Given the description of an element on the screen output the (x, y) to click on. 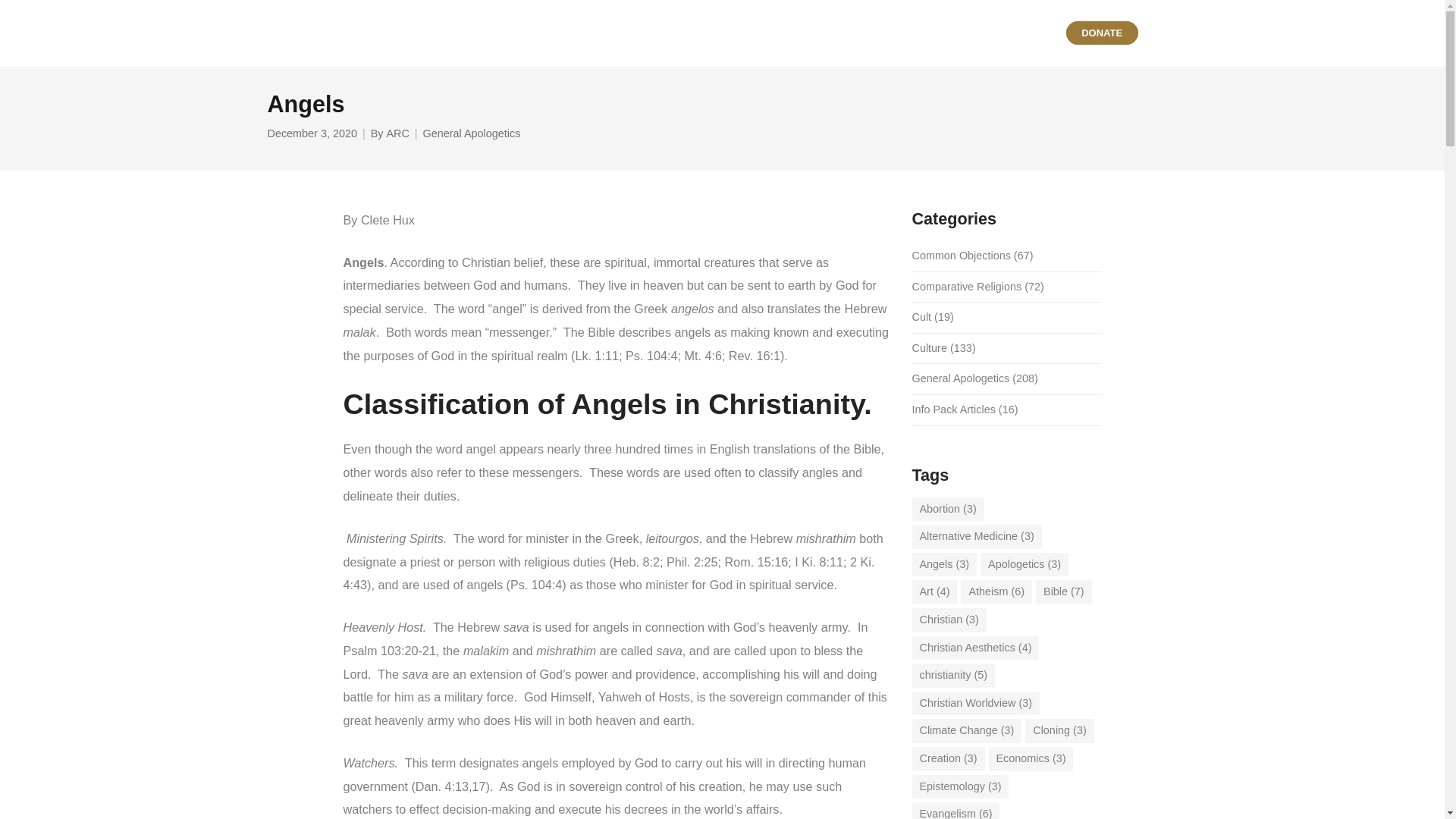
RESOURCES (848, 33)
ARTICLES (773, 33)
General Apologetics (472, 133)
DONATE (1101, 33)
ARC (397, 133)
View all posts in General Apologetics (472, 133)
CONTACT US (1014, 33)
ABOUT ARC (933, 33)
